Given the description of an element on the screen output the (x, y) to click on. 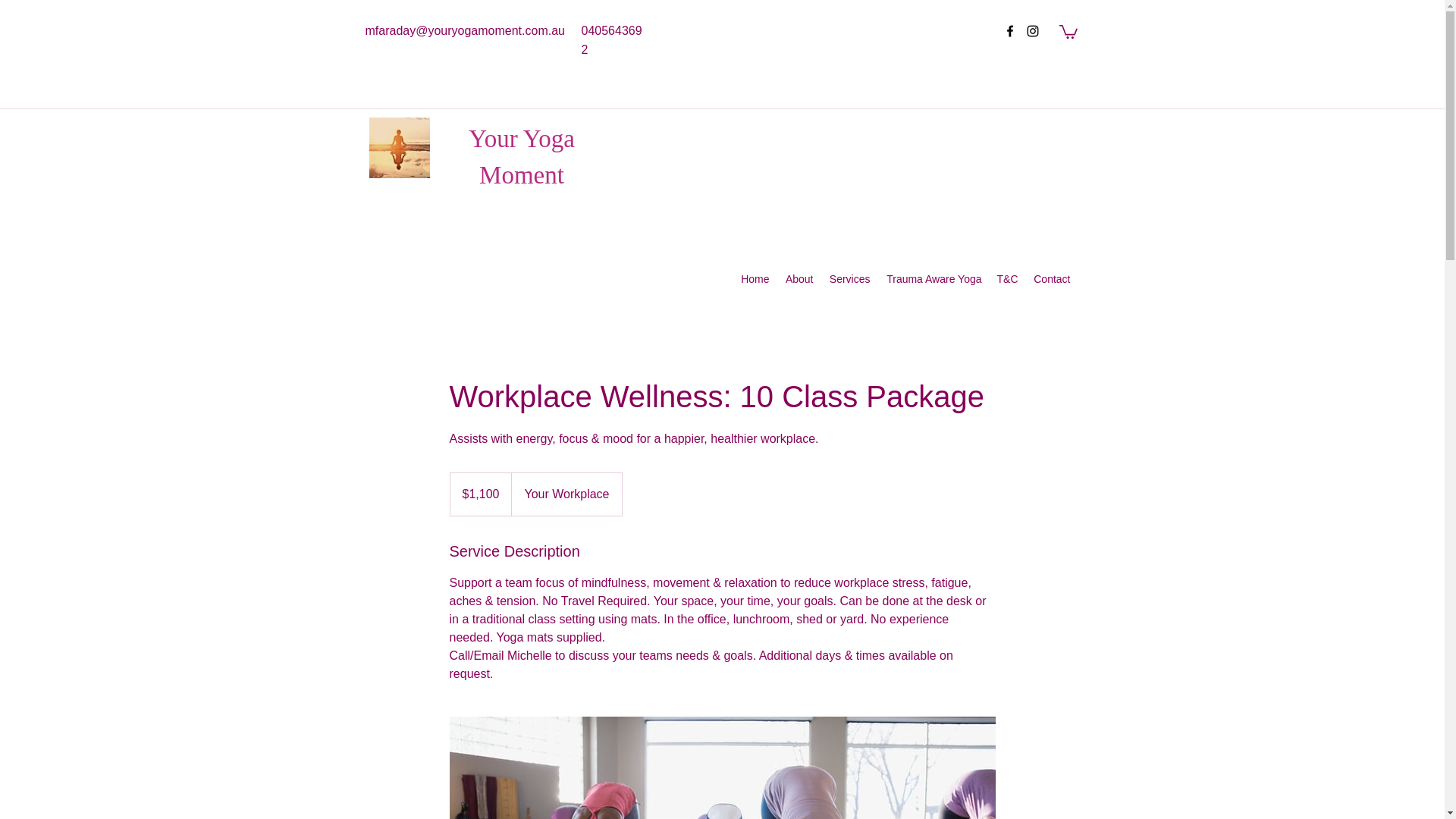
About (798, 278)
Trauma Aware Yoga (933, 278)
Contact (1051, 278)
Services (849, 278)
Home (754, 278)
